Given the description of an element on the screen output the (x, y) to click on. 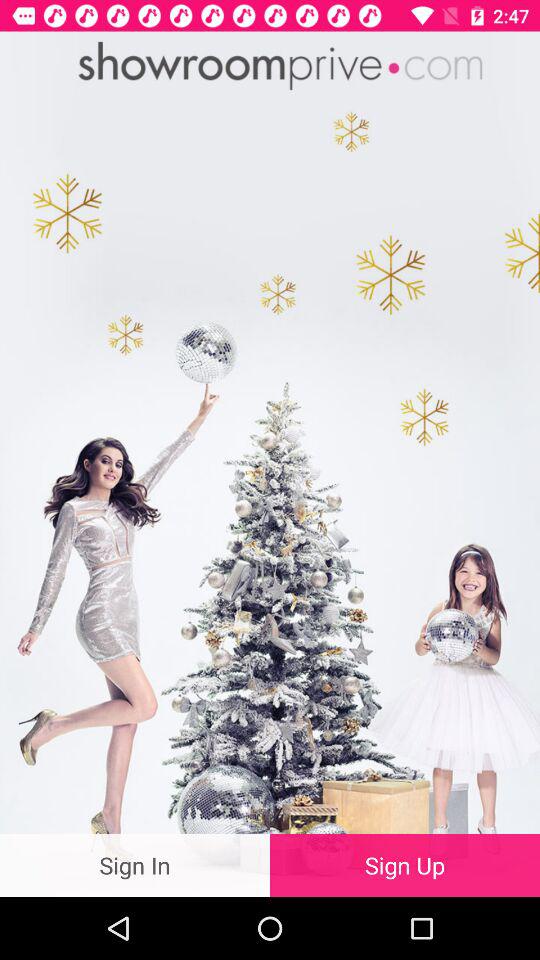
flip to the sign up (405, 864)
